Given the description of an element on the screen output the (x, y) to click on. 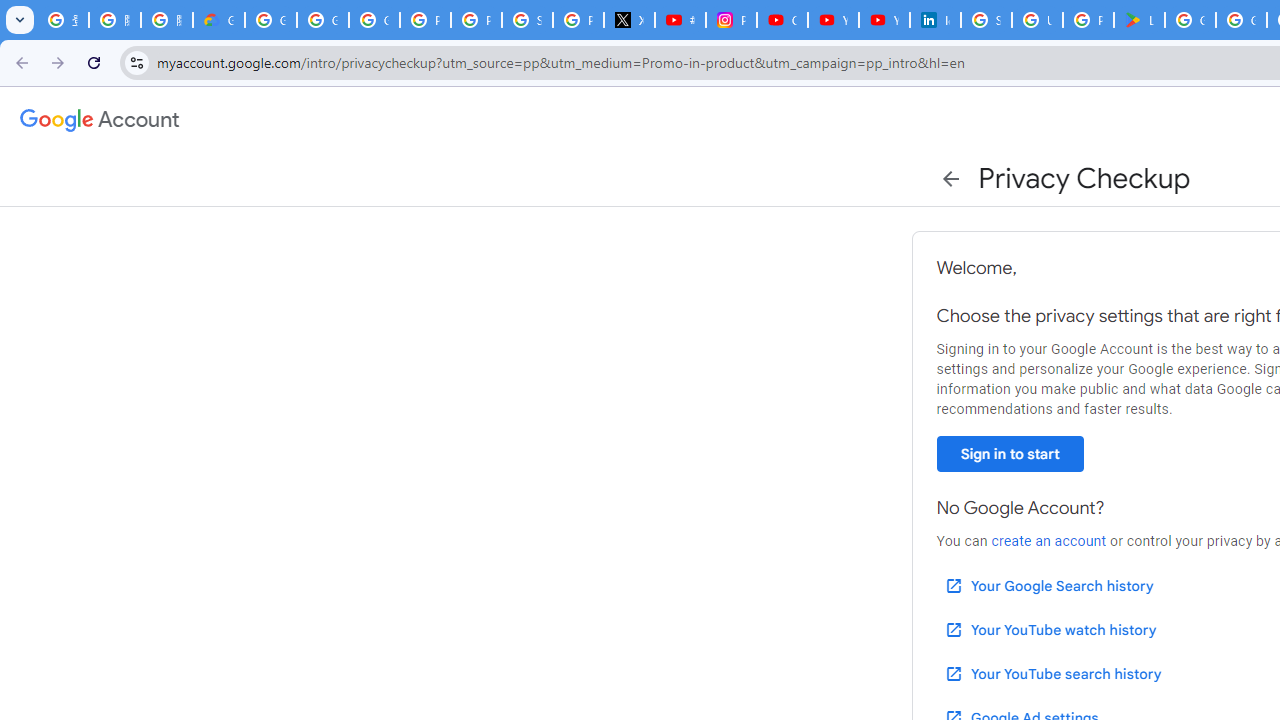
#nbabasketballhighlights - YouTube (680, 20)
Your YouTube watch history (1049, 630)
X (629, 20)
create an account (1048, 541)
Google Workspace - Specific Terms (1241, 20)
Identity verification via Persona | LinkedIn Help (935, 20)
Google Account settings (100, 120)
